Given the description of an element on the screen output the (x, y) to click on. 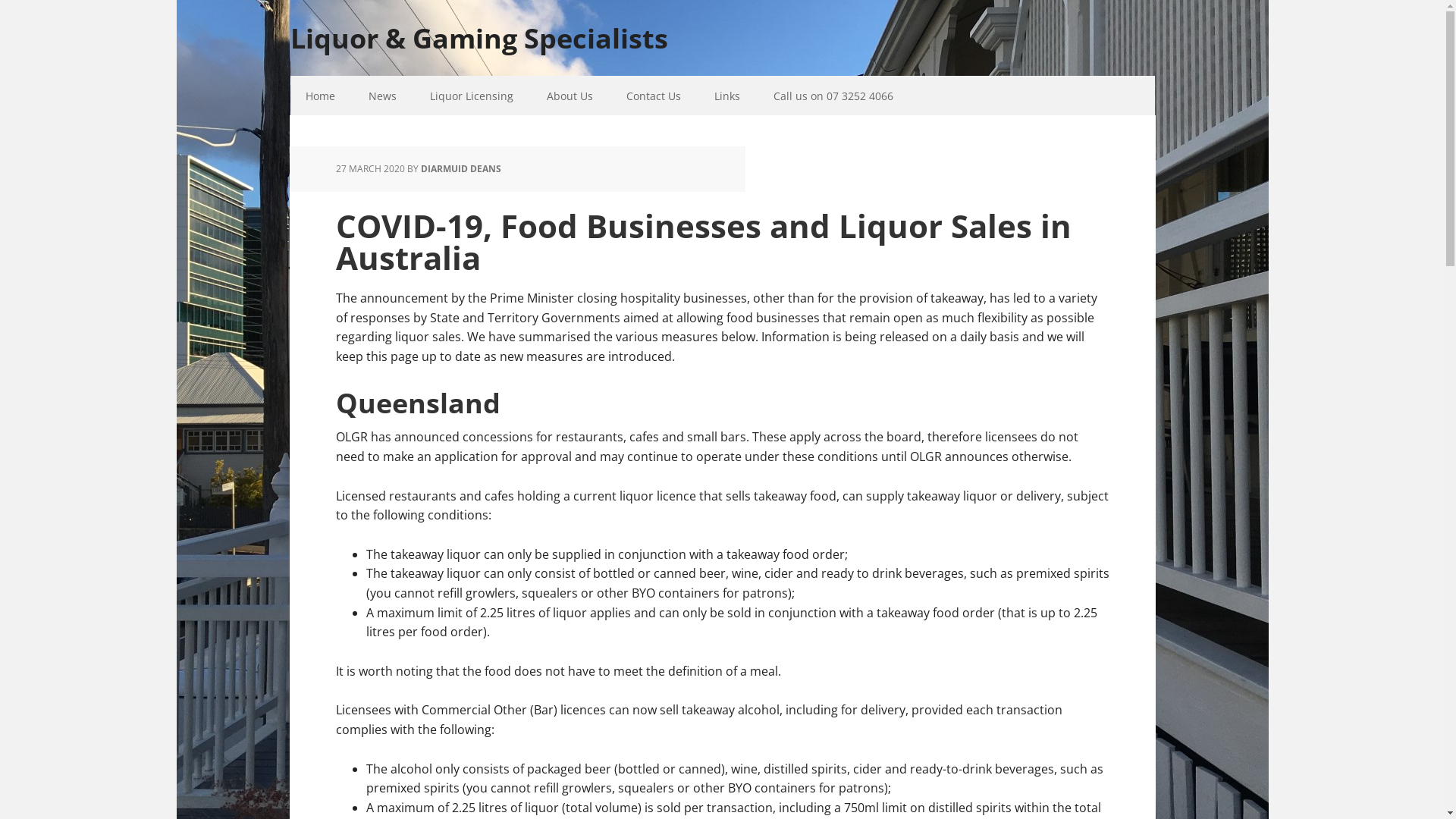
Call us on 07 3252 4066 Element type: text (833, 95)
Home Element type: text (319, 95)
News Element type: text (382, 95)
About Us Element type: text (568, 95)
Liquor Licensing Element type: text (470, 95)
Contact Us Element type: text (653, 95)
DIARMUID DEANS Element type: text (460, 168)
Liquor & Gaming Specialists Element type: text (721, 27)
Links Element type: text (727, 95)
